Given the description of an element on the screen output the (x, y) to click on. 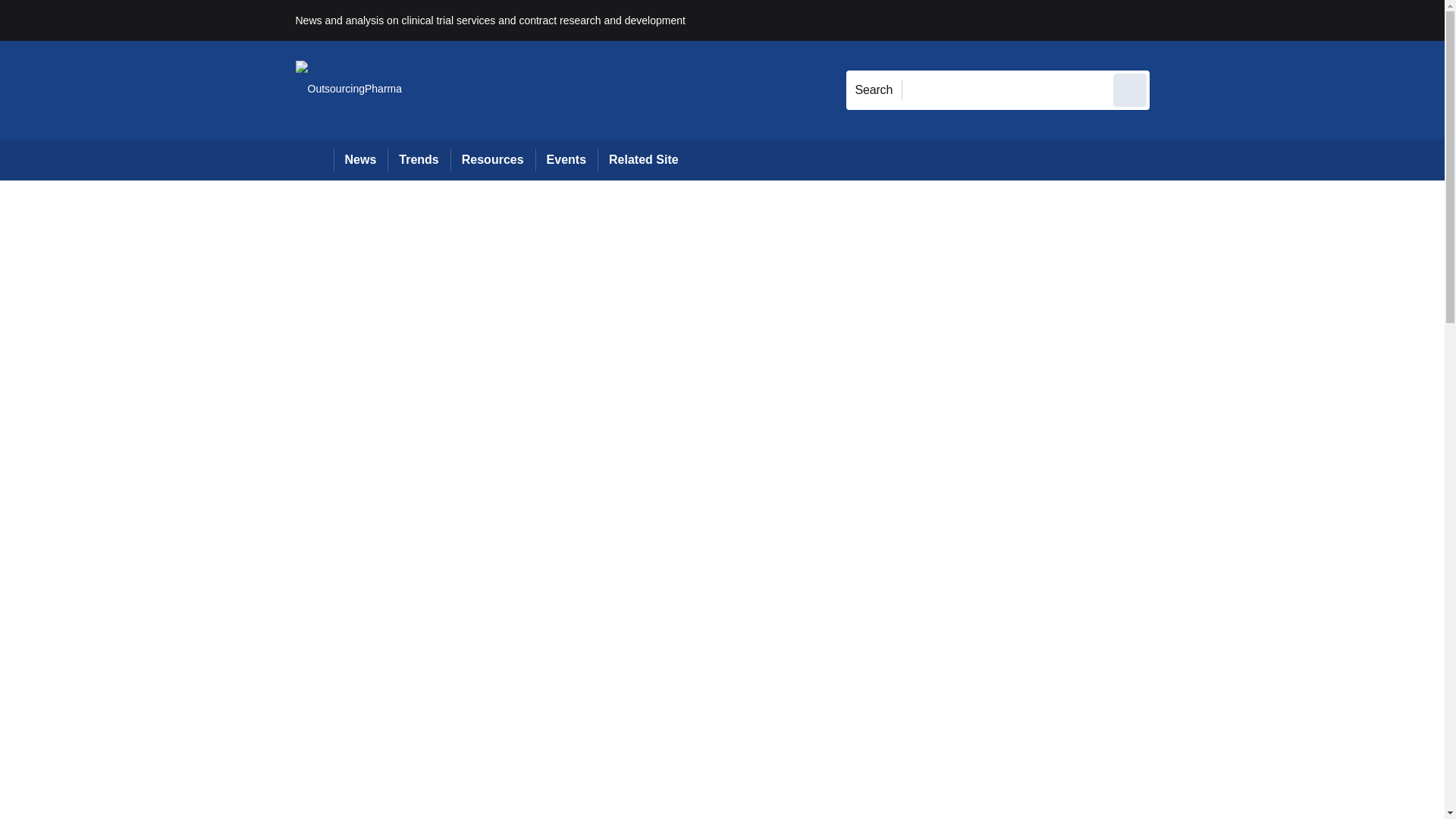
Send (1129, 90)
Trends (418, 159)
Sign out (1174, 20)
Sign in (1171, 20)
Resources (492, 159)
REGISTER (1250, 20)
OutsourcingPharma (349, 89)
Send (1129, 89)
Home (314, 159)
News (360, 159)
